Given the description of an element on the screen output the (x, y) to click on. 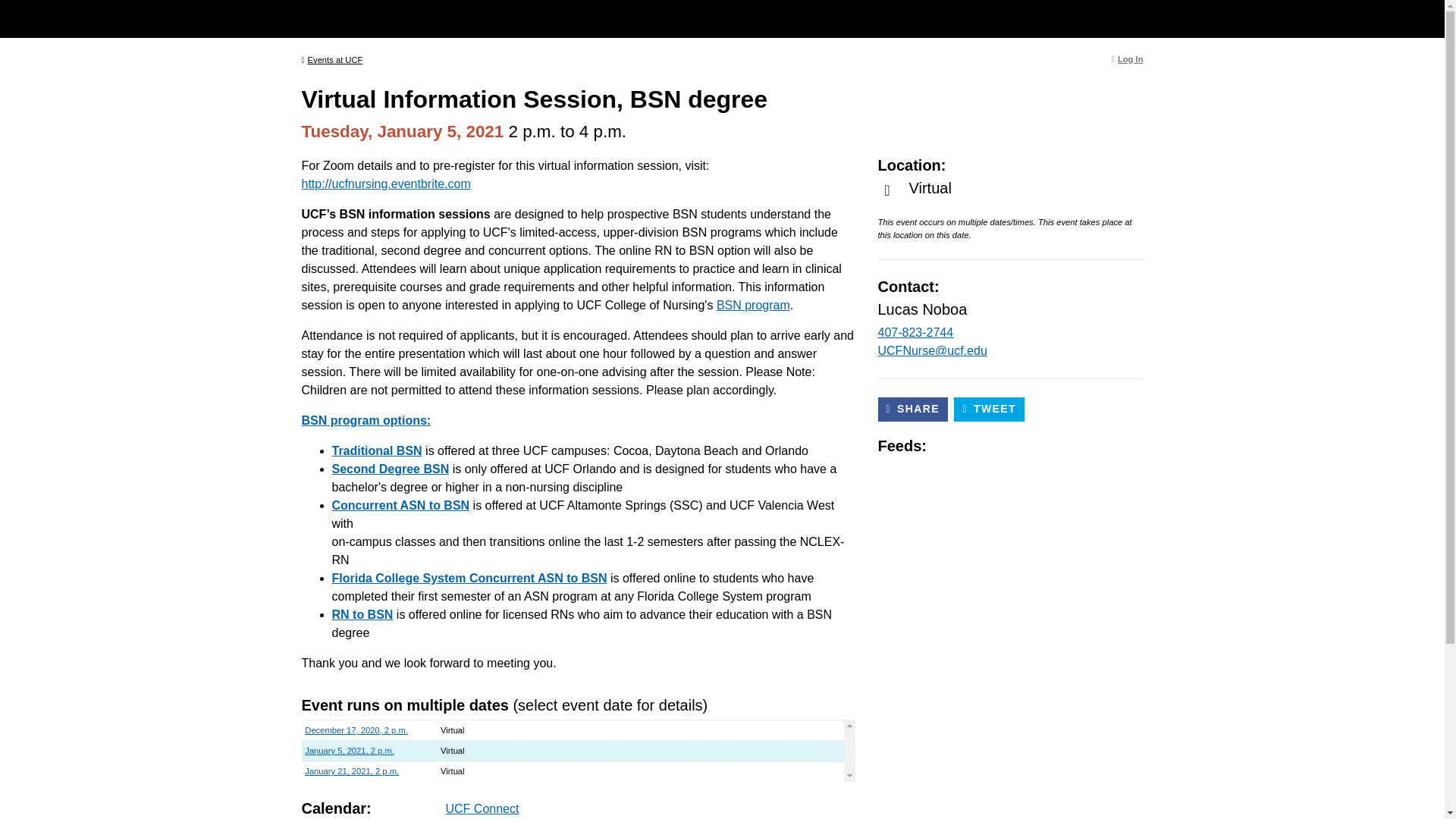
BSN program (753, 305)
BSN program (753, 305)
RSS Feed (997, 446)
Concurrent ASN to BSN (400, 504)
Florida College System Concurrent ASN to BSN (469, 577)
RN to BSN (362, 614)
Second Degree BSN (390, 468)
SHARE (913, 409)
407-823-2744 (915, 332)
Tweet this event (989, 409)
JSON Feed (1048, 446)
Share this content on Facebook (913, 409)
BSN program options: (365, 420)
Traditional BSN (376, 450)
Online FCS Concurrent ASN to BSN (469, 577)
